Given the description of an element on the screen output the (x, y) to click on. 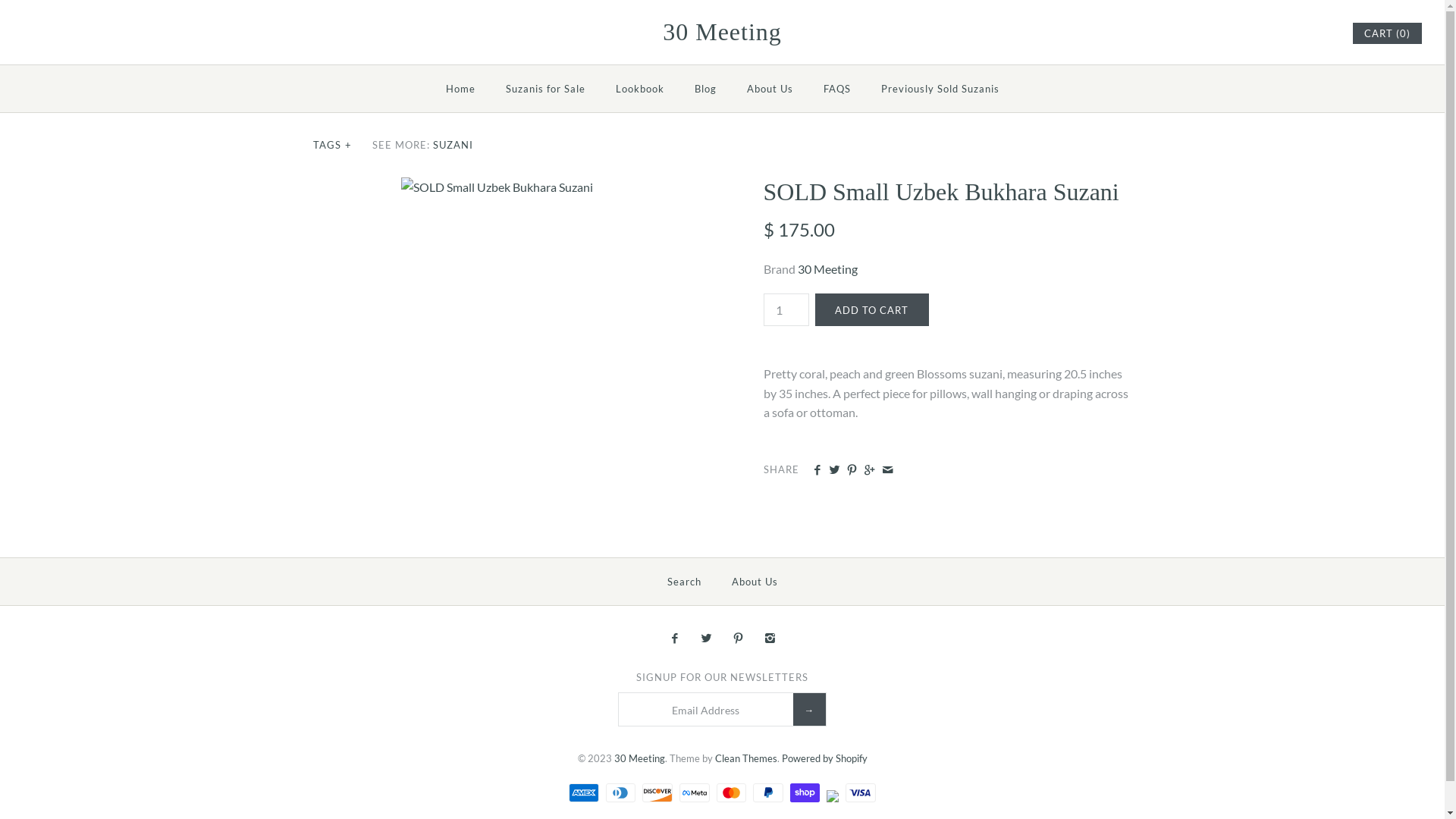
Powered by Shopify Element type: text (823, 758)
About Us Element type: text (753, 581)
Clean Themes Element type: text (745, 758)
30 Meeting Element type: text (721, 35)
30 Meeting Element type: text (639, 758)
Search Element type: text (684, 581)
Pinterest Element type: hover (738, 639)
Instagram Element type: hover (1319, 32)
30 Meeting Element type: text (827, 268)
Home Element type: text (460, 88)
Blog Element type: text (705, 88)
Suzanis for Sale Element type: text (544, 88)
Facebook Element type: hover (673, 639)
Share on Twitter Element type: hover (834, 469)
Twitter Element type: hover (706, 639)
Instagram Element type: hover (769, 639)
SUZANI Element type: text (453, 144)
CART (0) Element type: text (1386, 33)
Pin the main image Element type: hover (851, 469)
Share on Google+ Element type: hover (869, 469)
Twitter Element type: hover (1284, 32)
Add to Cart Element type: text (871, 309)
Lookbook Element type: text (639, 88)
FAQS Element type: text (836, 88)
About Us Element type: text (769, 88)
Share on Facebook Element type: hover (816, 469)
Pinterest Element type: hover (1301, 32)
Facebook Element type: hover (1266, 32)
SOLD Small Uzbek Bukhara Suzani Element type: hover (497, 186)
Share using email Element type: hover (887, 469)
Previously Sold Suzanis Element type: text (940, 88)
TAGS + Element type: text (332, 144)
